Given the description of an element on the screen output the (x, y) to click on. 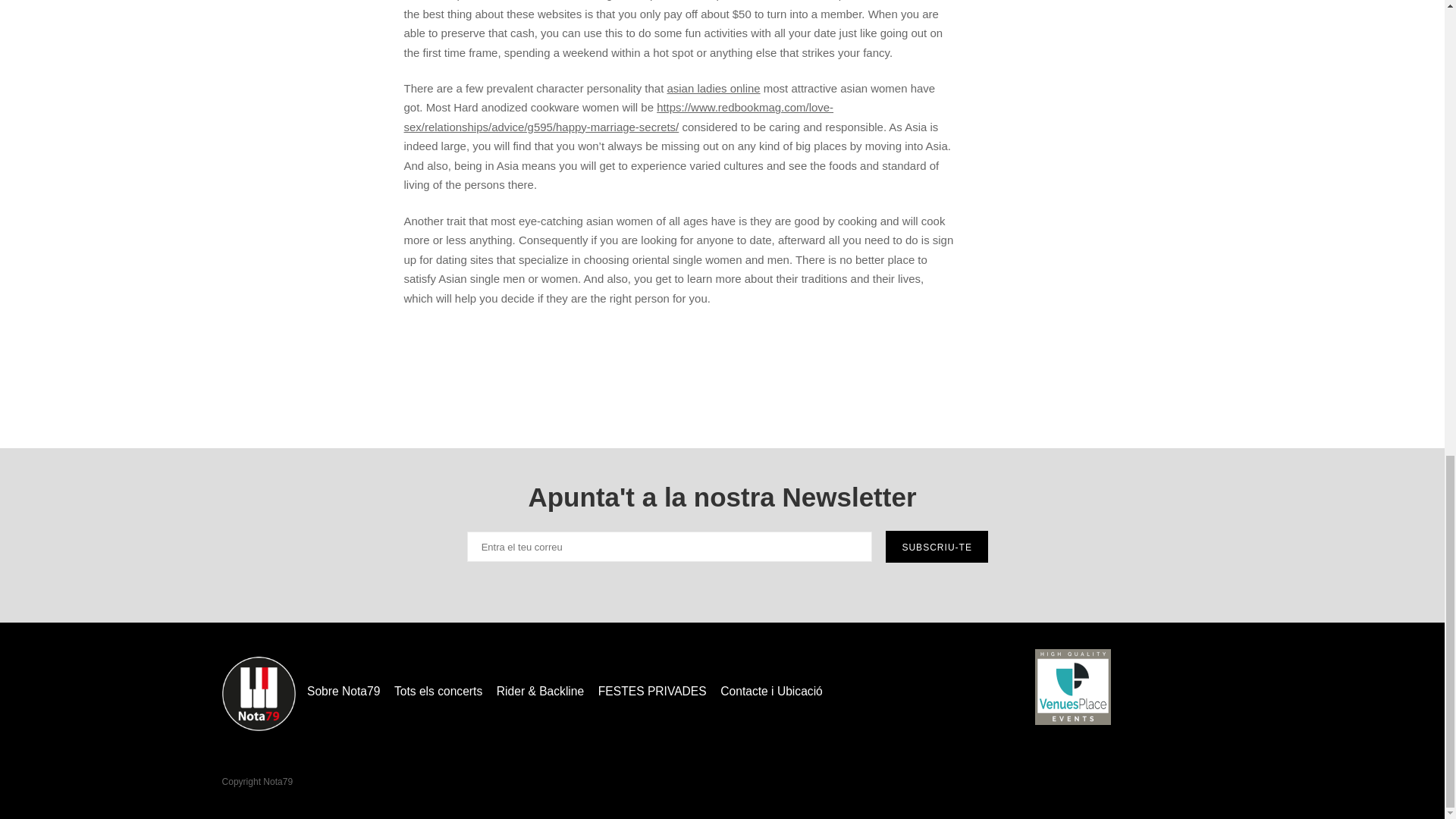
Tots els concerts (437, 691)
Subscriu-te (936, 546)
Sobre Nota79 (343, 691)
asian ladies online (713, 88)
FESTES PRIVADES (652, 691)
Recomendado en VenuesPlace. Ver opiniones de Nota79 (1072, 690)
Subscriu-te (936, 546)
